Given the description of an element on the screen output the (x, y) to click on. 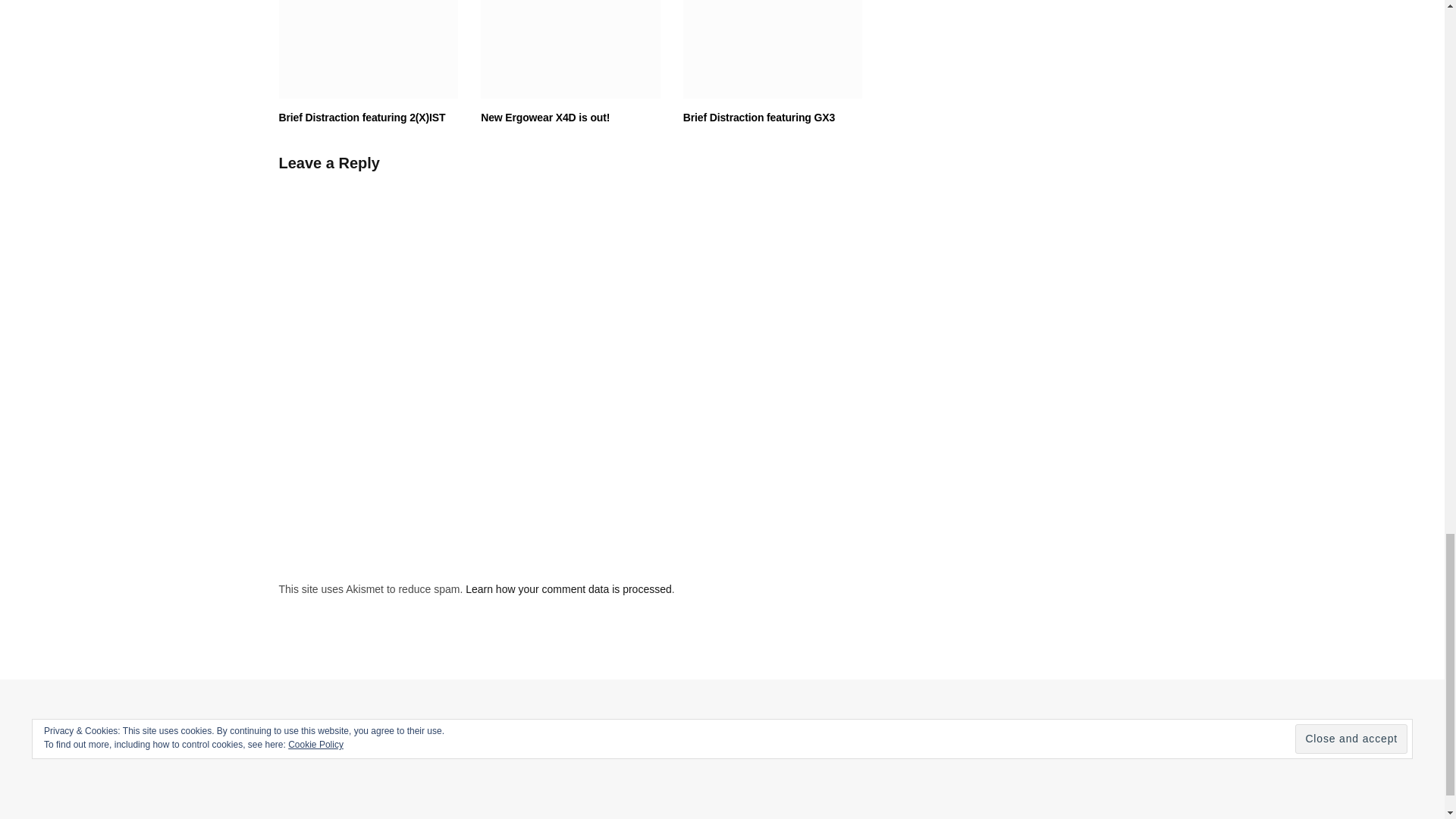
Brief Distraction featuring GX3 (772, 49)
New Ergowear X4D is out! (570, 49)
